Given the description of an element on the screen output the (x, y) to click on. 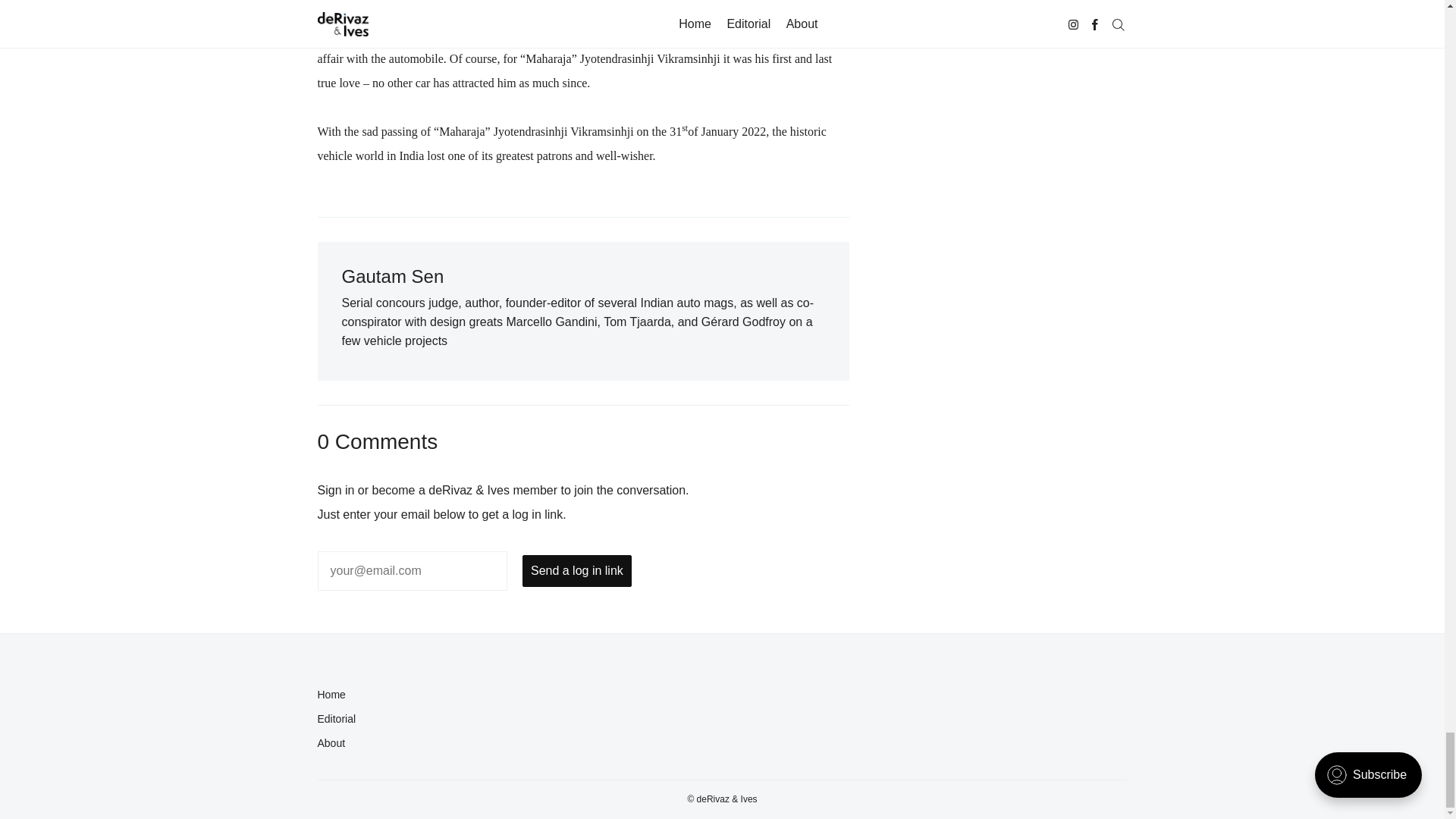
Home (507, 694)
Editorial (507, 718)
Gautam Sen (392, 276)
About (513, 743)
Send a log in link (576, 571)
